Given the description of an element on the screen output the (x, y) to click on. 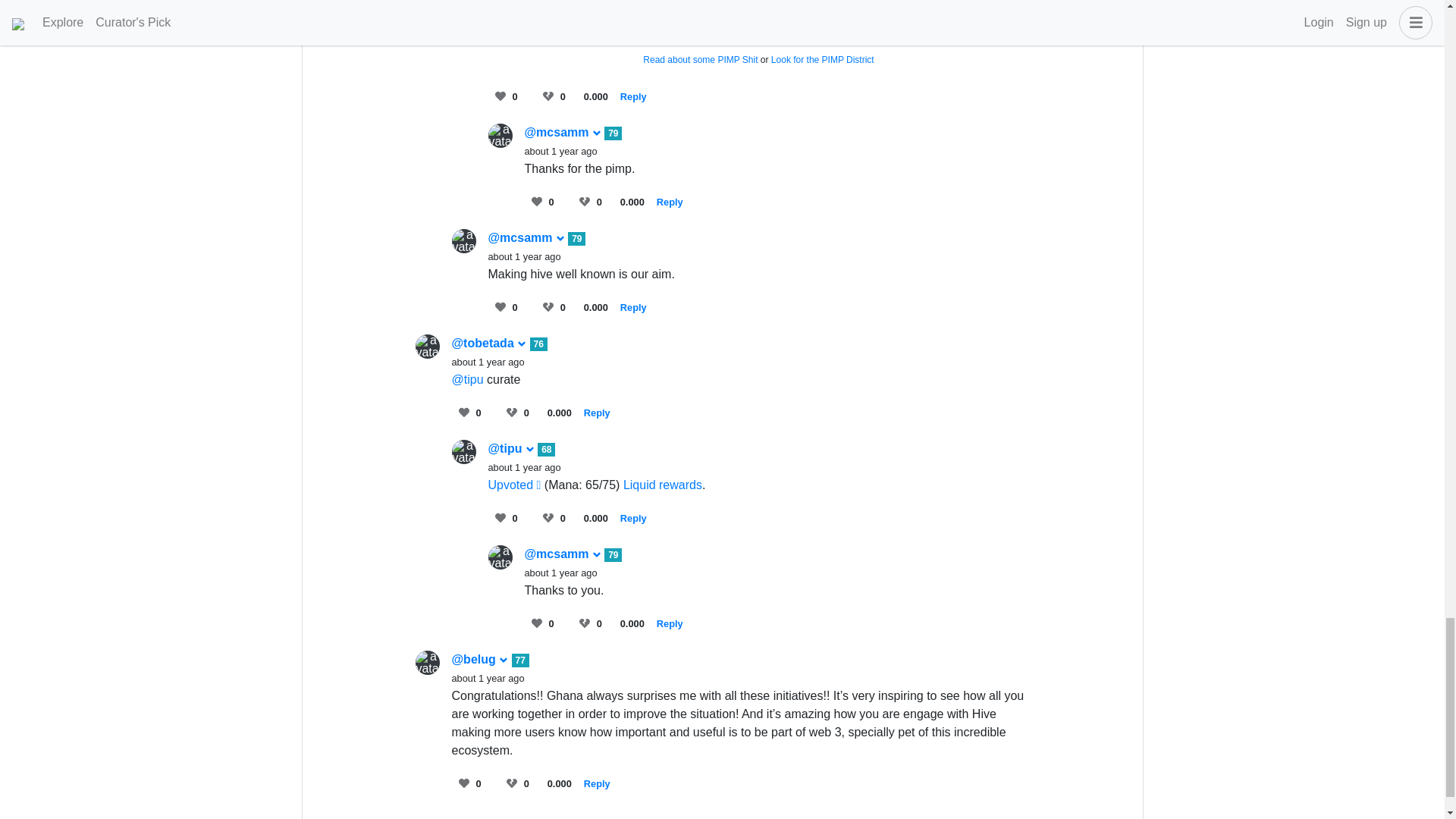
This link will take you away from the app (823, 59)
This link will take you away from the app (700, 59)
This link will take you away from the app (514, 484)
This link will take you away from the app (662, 484)
